Given the description of an element on the screen output the (x, y) to click on. 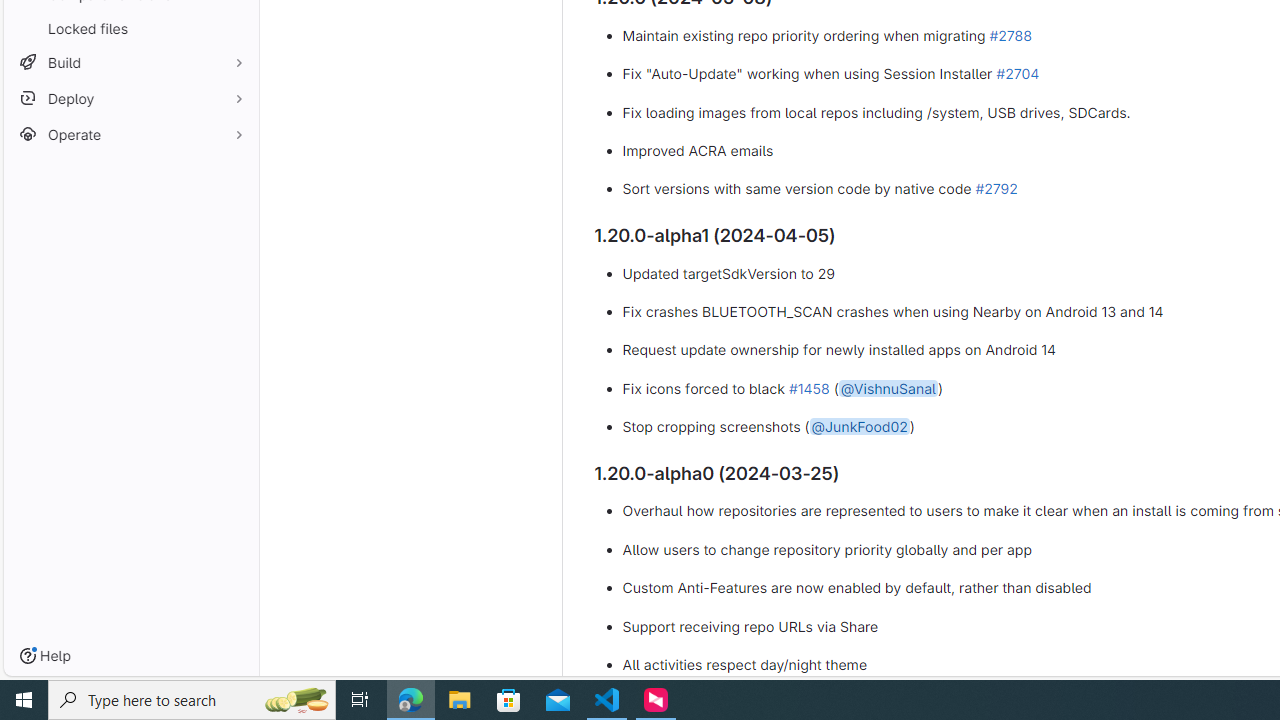
Task View (359, 699)
Pin Locked files (234, 28)
File Explorer (460, 699)
@VishnuSanal (888, 387)
Operate (130, 134)
Microsoft Store (509, 699)
Build (130, 62)
Type here to search (191, 699)
#2792 (996, 189)
Start (24, 699)
#1458 (808, 387)
#2788 (1010, 34)
